Given the description of an element on the screen output the (x, y) to click on. 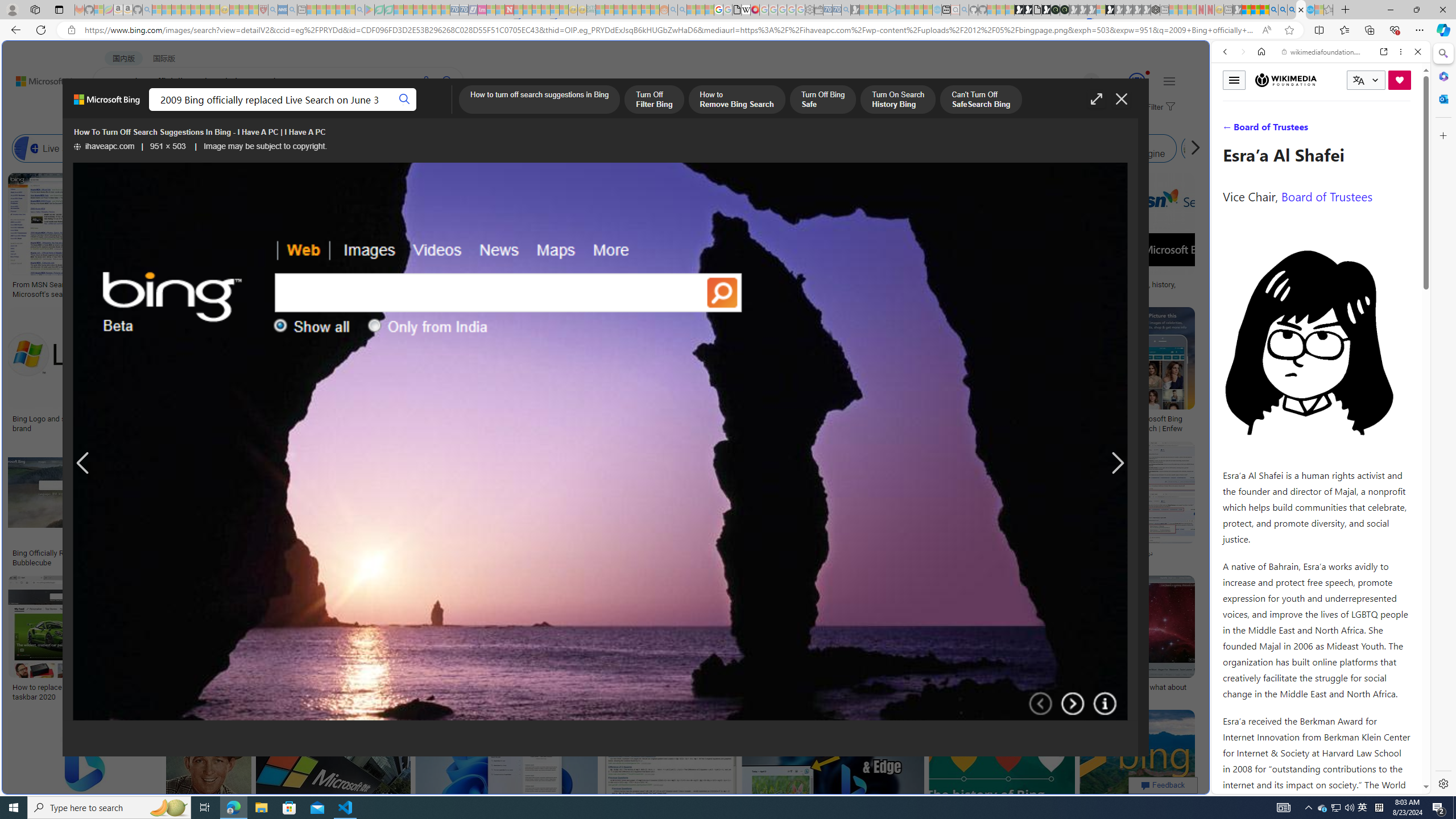
ACADEMIC (360, 111)
Donate now (1399, 80)
Turn Off Filter Bing (654, 100)
Services - Maintenance | Sky Blue Bikes - Sky Blue Bikes (1309, 9)
Microsoft Live Logo (419, 284)
Technology History timeline | Timetoast timelines (833, 289)
